Given the description of an element on the screen output the (x, y) to click on. 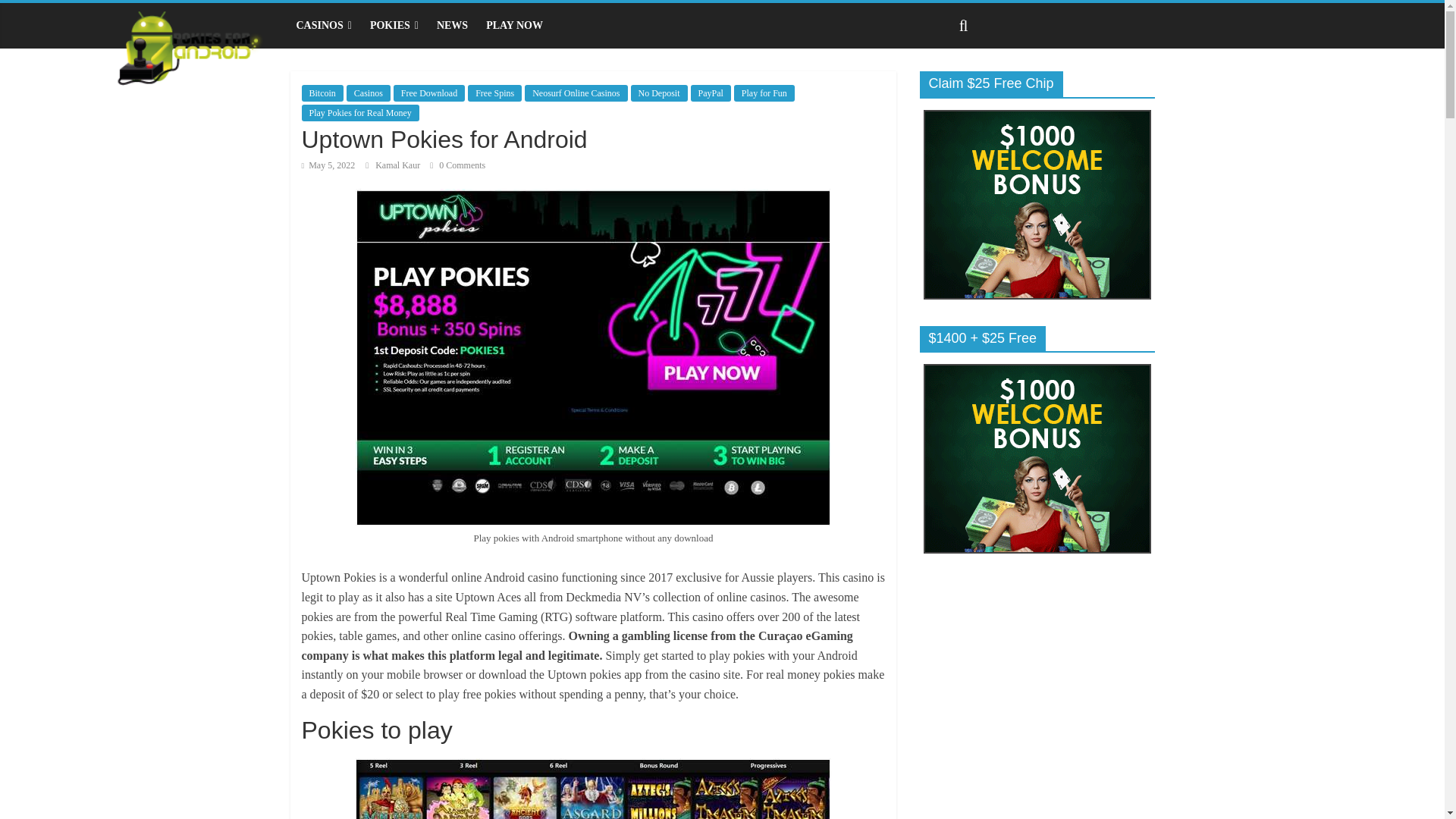
PLAY NOW (514, 25)
No Deposit (658, 93)
Kamal Kaur (398, 164)
NEWS (452, 25)
Android Casinos (322, 25)
0 Comments (456, 164)
PayPal (710, 93)
POKIES (394, 25)
Free Spins (494, 93)
7:57 am (328, 164)
May 5, 2022 (328, 164)
Kamal Kaur (398, 164)
Casinos (368, 93)
CASINOS (322, 25)
Play Pokies for Real Money (360, 112)
